Given the description of an element on the screen output the (x, y) to click on. 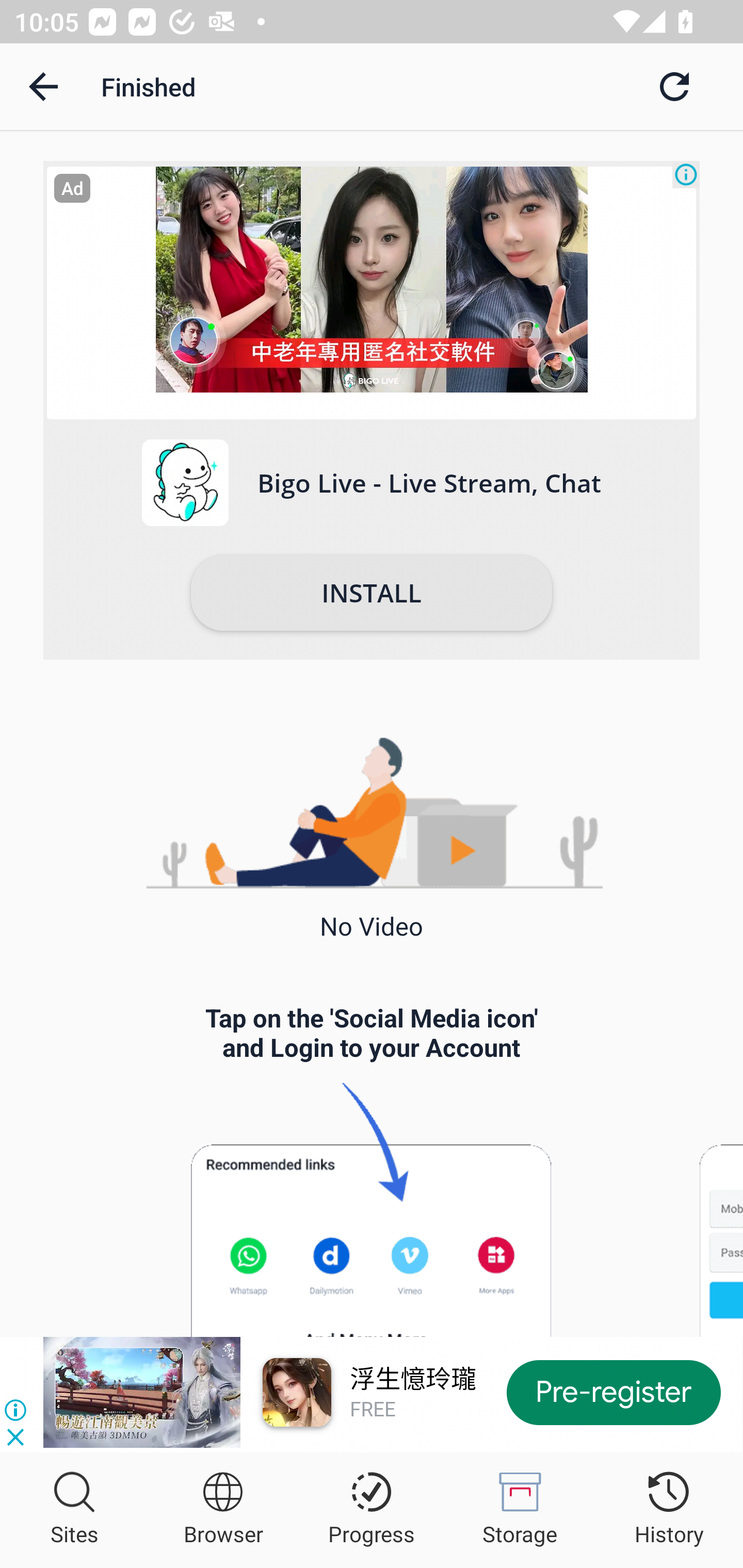
Media content Ad (371, 292)
Ad Choices Icon (685, 174)
INSTALL (371, 592)
Pre-register (613, 1391)
浮生憶玲瓏 (412, 1379)
FREE (372, 1409)
Sites (74, 1509)
Browser (222, 1509)
Progress (371, 1509)
Storage (519, 1509)
History (668, 1509)
